Given the description of an element on the screen output the (x, y) to click on. 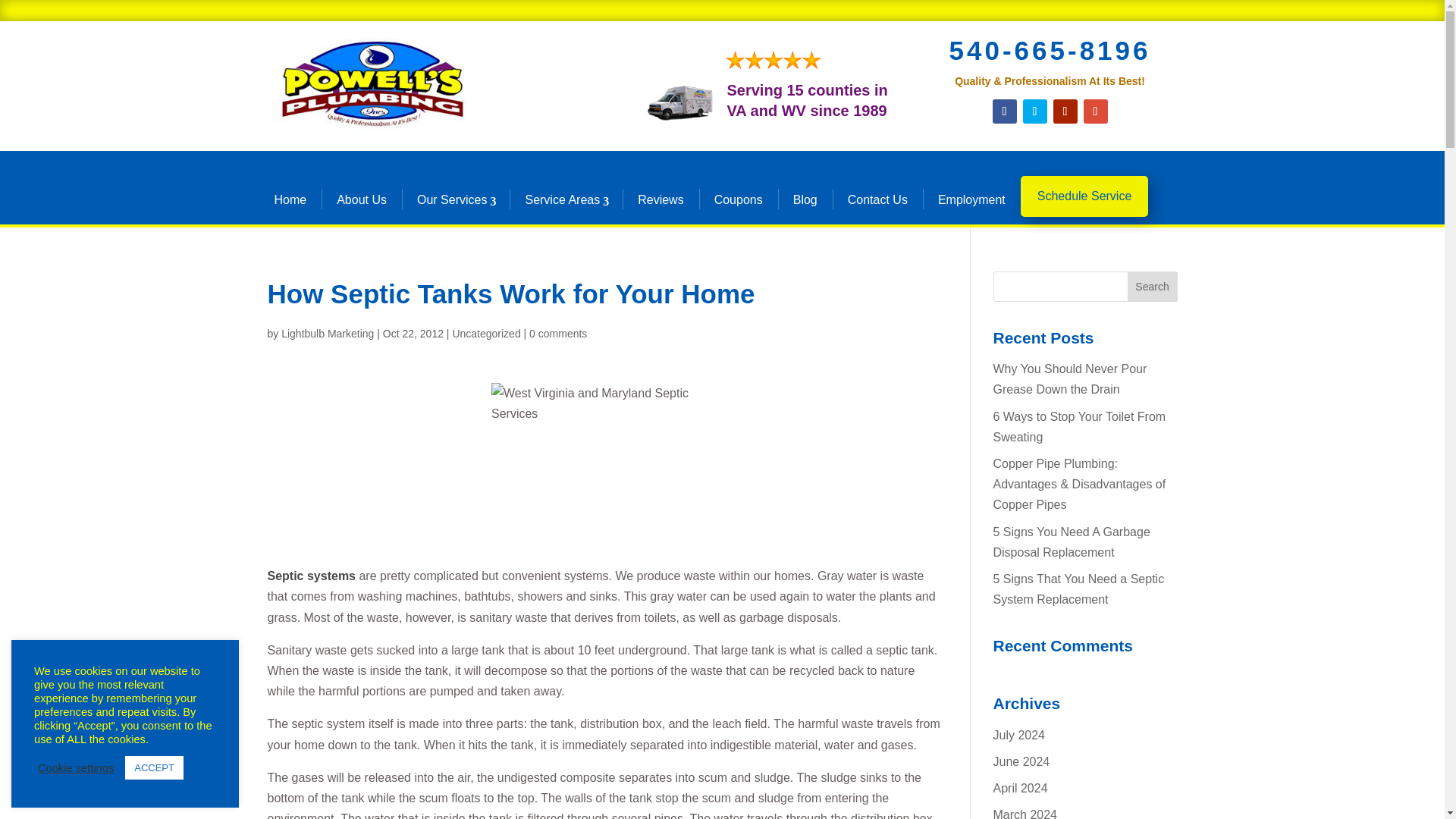
Posts by Lightbulb Marketing (327, 333)
Follow on Youtube (1064, 111)
Search (1151, 286)
Follow on Twitter (1034, 111)
Follow on Facebook (1004, 111)
West Virginia and Maryland Septic Services (605, 468)
